Given the description of an element on the screen output the (x, y) to click on. 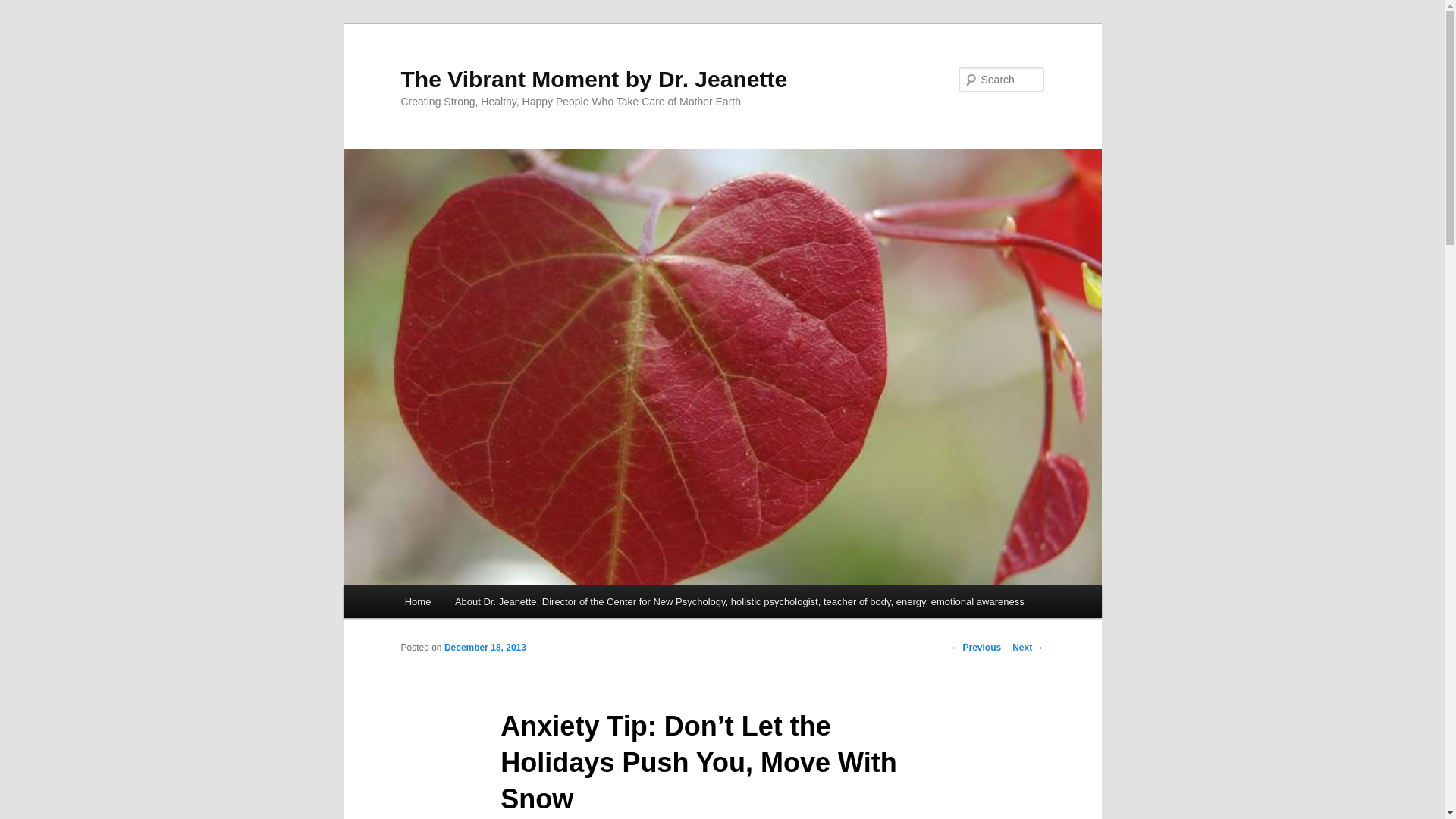
December 18, 2013 (484, 647)
1:41 pm (484, 647)
Search (24, 8)
The Vibrant Moment by Dr. Jeanette (593, 78)
Home (417, 601)
